Given the description of an element on the screen output the (x, y) to click on. 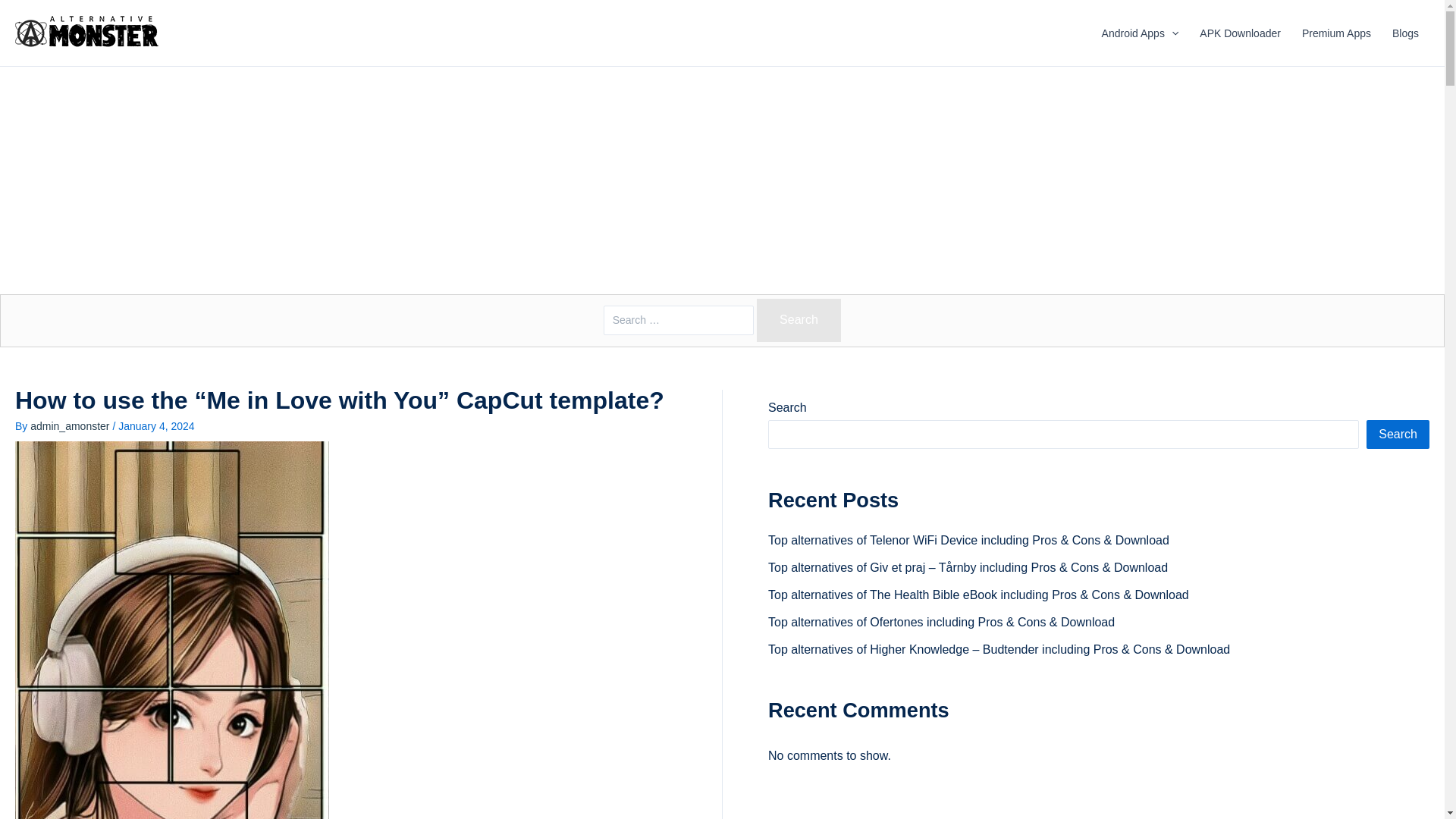
Search (799, 320)
APK Downloader (1240, 33)
Search (799, 320)
Android Apps (1139, 33)
Search (799, 320)
Premium Apps (1336, 33)
